Given the description of an element on the screen output the (x, y) to click on. 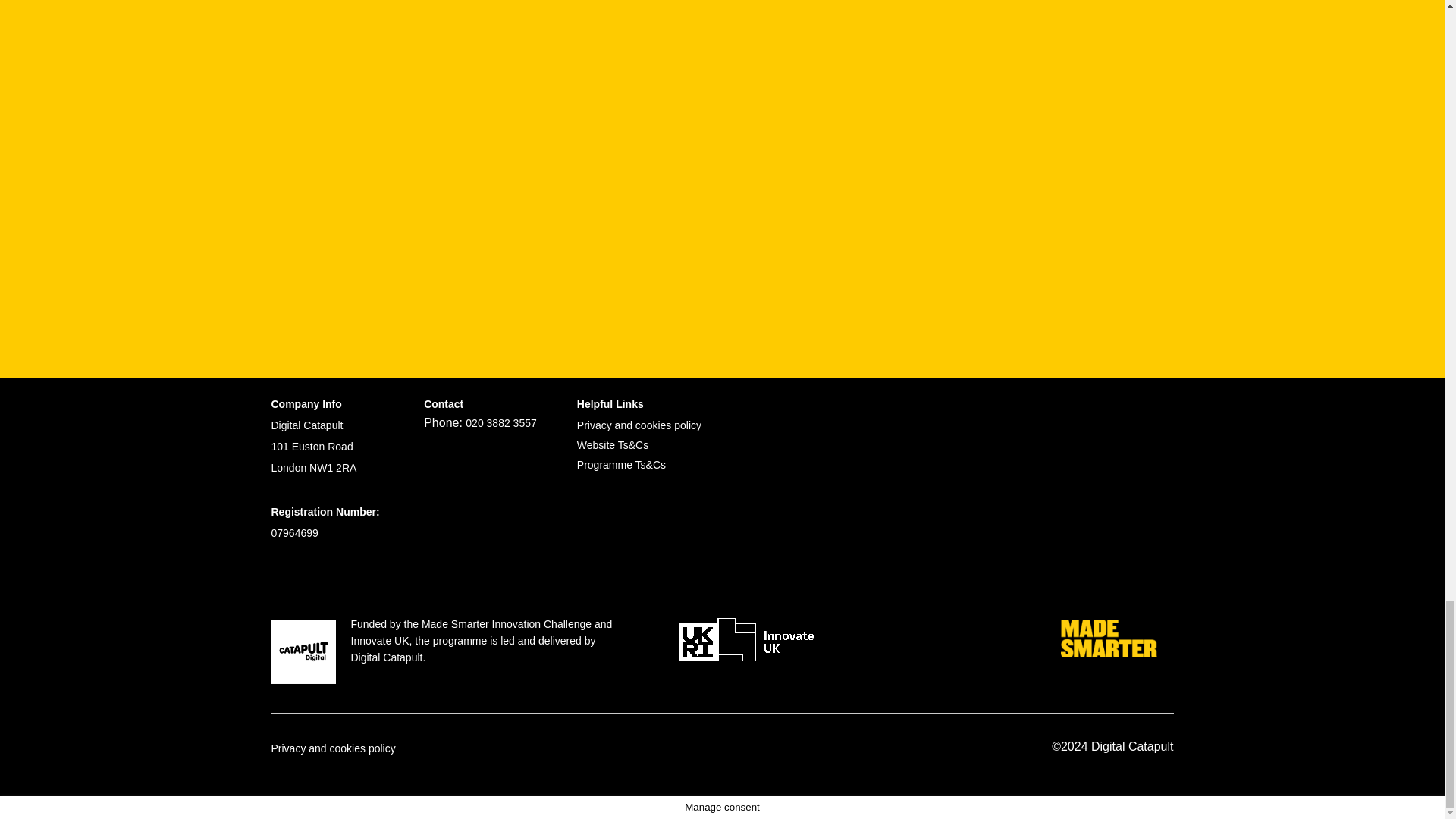
020 3882 3557 (500, 422)
Privacy and cookies policy (638, 424)
Privacy and cookies policy (333, 748)
